Given the description of an element on the screen output the (x, y) to click on. 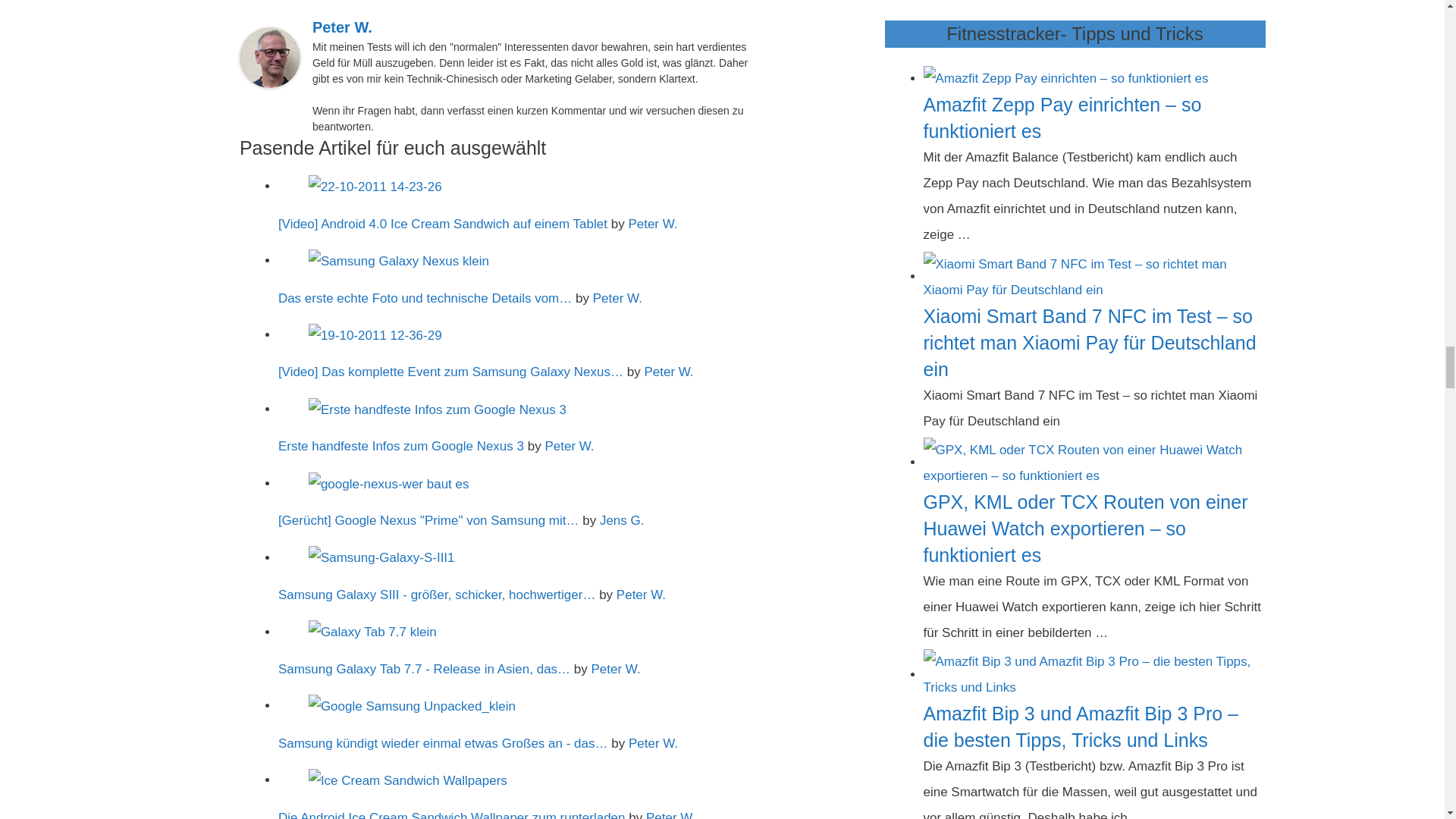
Peter W. (342, 27)
